Given the description of an element on the screen output the (x, y) to click on. 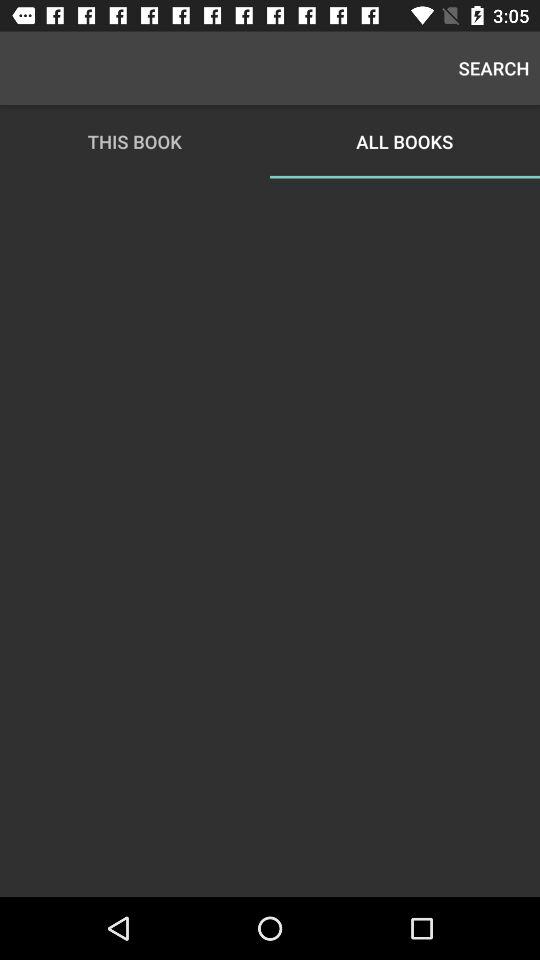
turn on icon next to this book (494, 67)
